Given the description of an element on the screen output the (x, y) to click on. 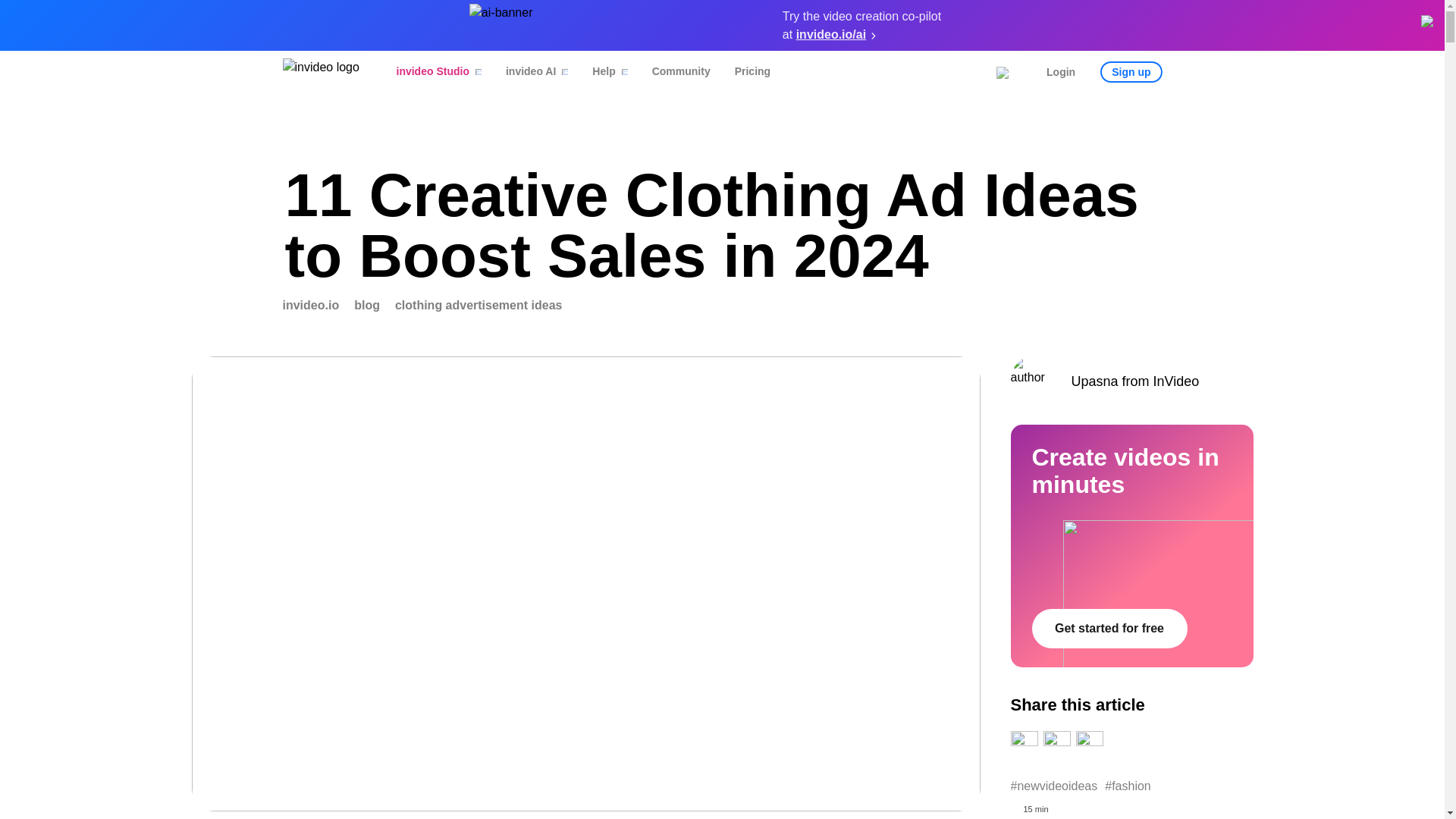
Go to Academy for Professional Quality Video Creation. (366, 305)
blog (366, 305)
clothing advertisement ideas (478, 305)
Go to Academy for Professional Quality Video Creation. (310, 305)
Get started for free (1108, 628)
Login (1060, 72)
clothing advertisement ideas (478, 305)
invideo.io (310, 305)
Sign up (1130, 71)
Pricing (741, 76)
Upasna from InVideo (1131, 378)
Community (669, 76)
